Given the description of an element on the screen output the (x, y) to click on. 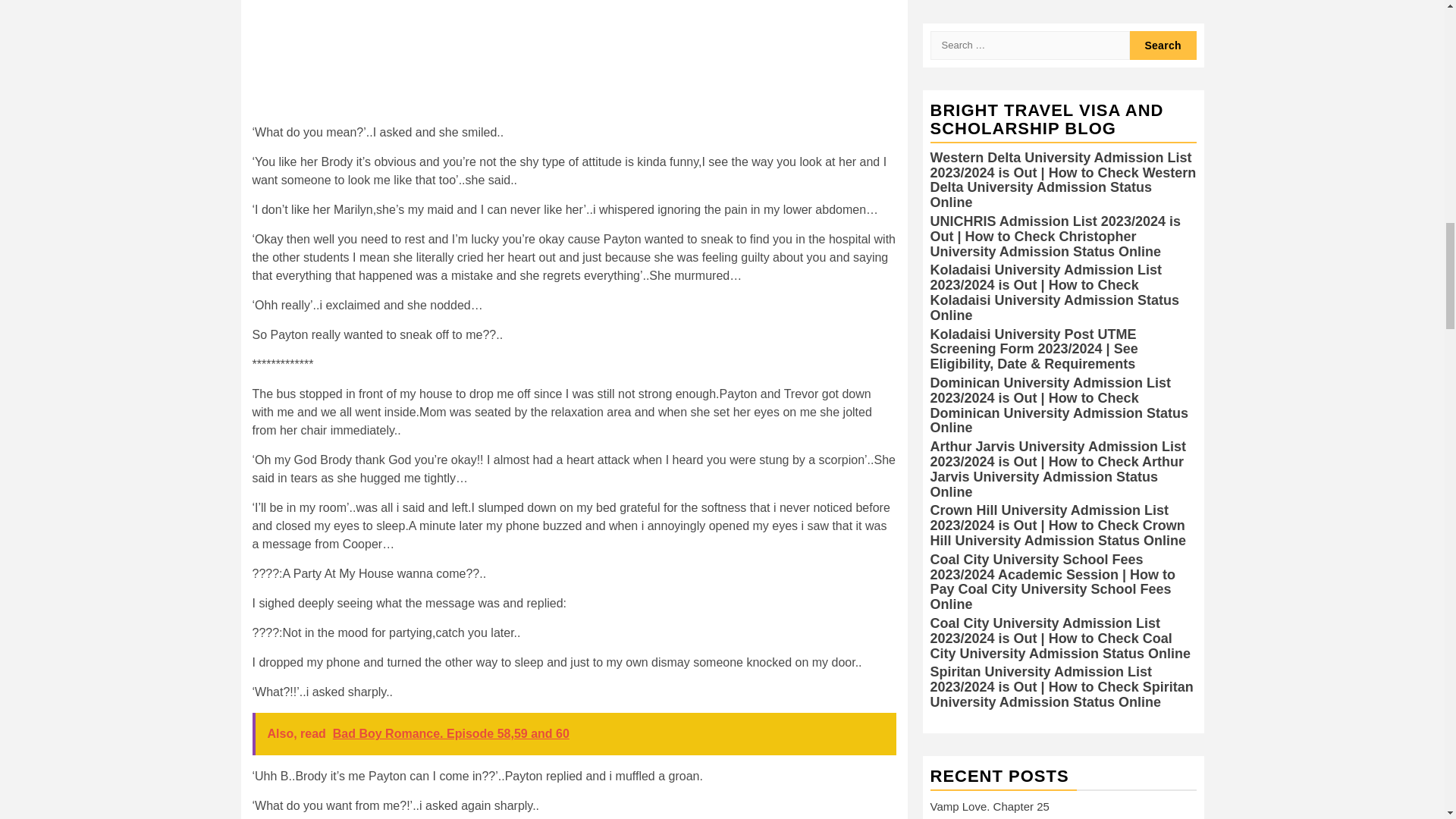
Advertisement (573, 61)
Also, read  Bad Boy Romance. Episode 58,59 and 60 (573, 733)
